Given the description of an element on the screen output the (x, y) to click on. 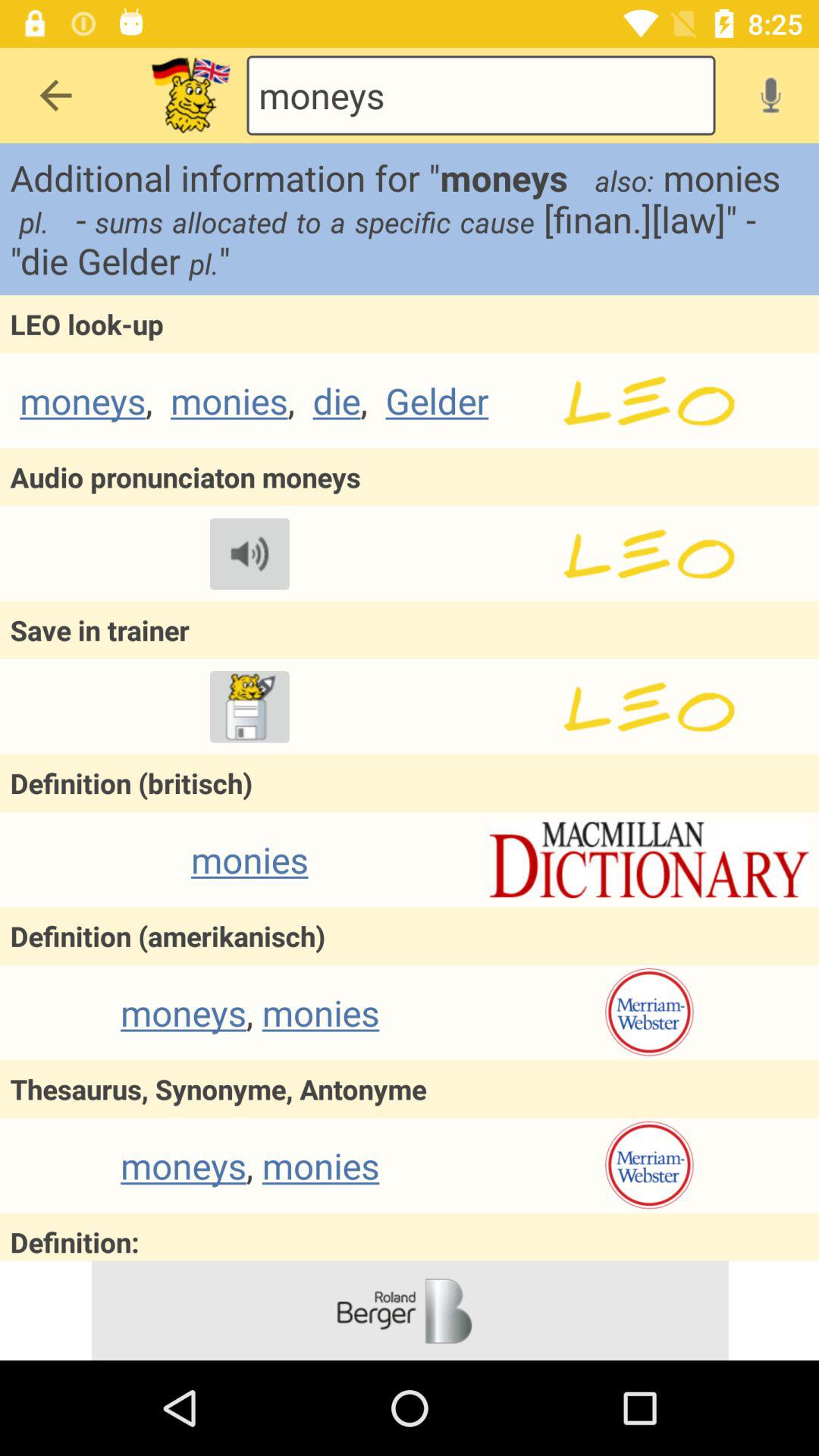
dictionary (648, 859)
